Given the description of an element on the screen output the (x, y) to click on. 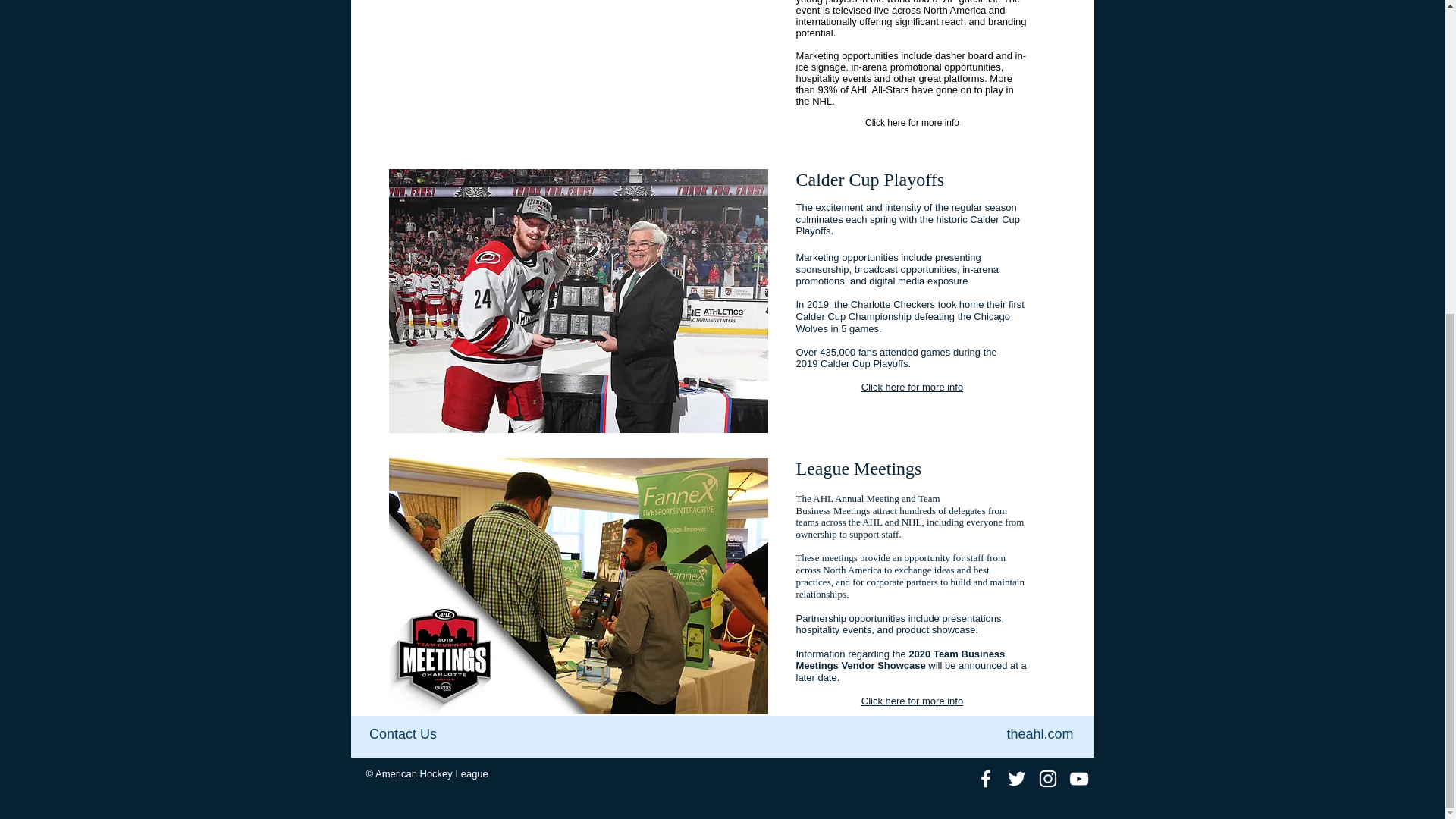
Click here for more info (911, 122)
theahl.com (1039, 734)
External YouTube (577, 63)
Click here for more info (911, 700)
Contact Us (402, 734)
Click here for more info (911, 387)
